Given the description of an element on the screen output the (x, y) to click on. 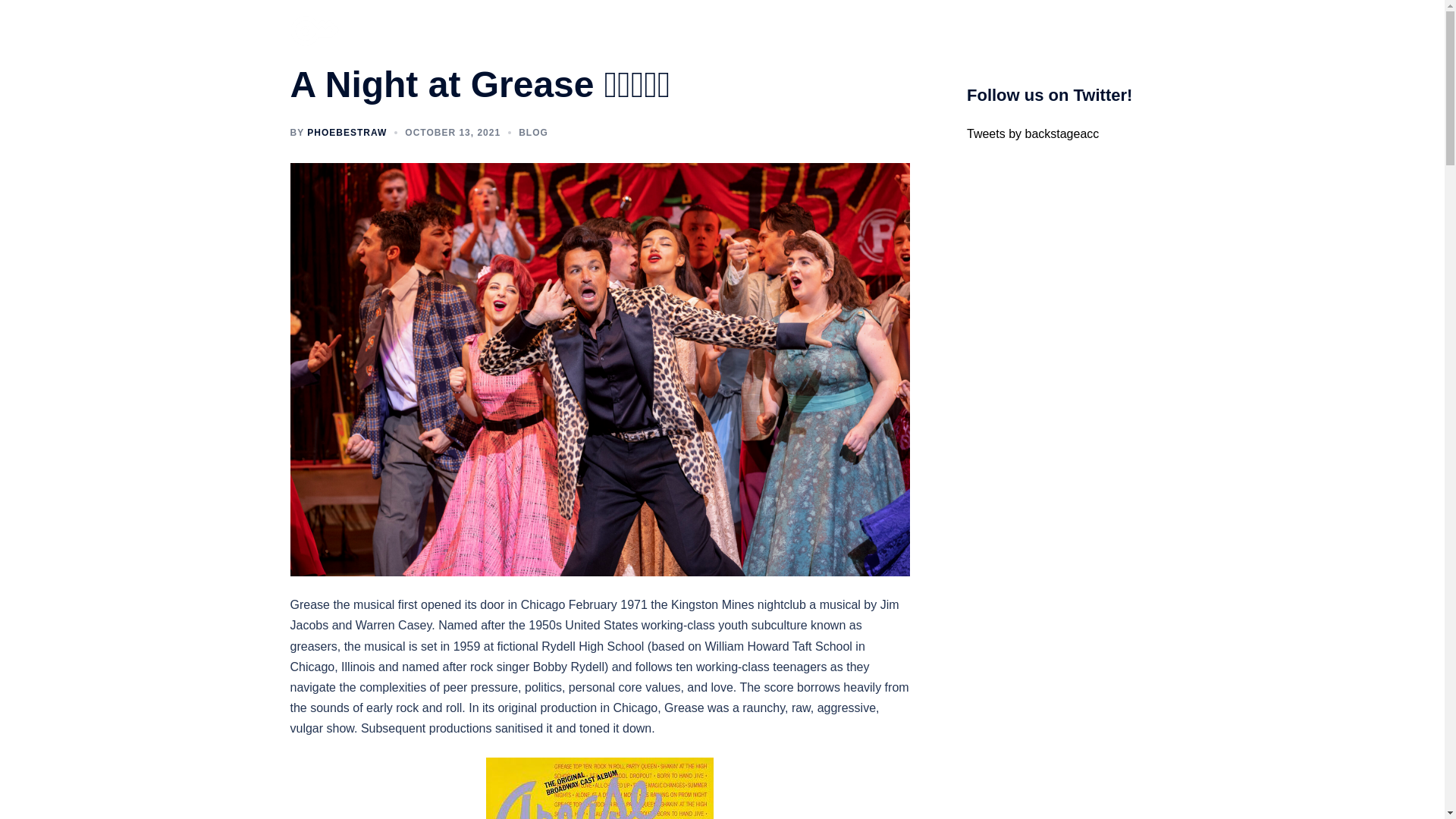
PHOEBESTRAW (347, 132)
CitiesandSunsets (924, 31)
Blog (851, 31)
About (805, 31)
OCTOBER 13, 2021 (452, 132)
BLOG (533, 132)
Travel (1053, 31)
BackStageAccess (314, 29)
Tweets by backstageacc (1032, 133)
Contact Me (1116, 31)
Dating (1002, 31)
